Given the description of an element on the screen output the (x, y) to click on. 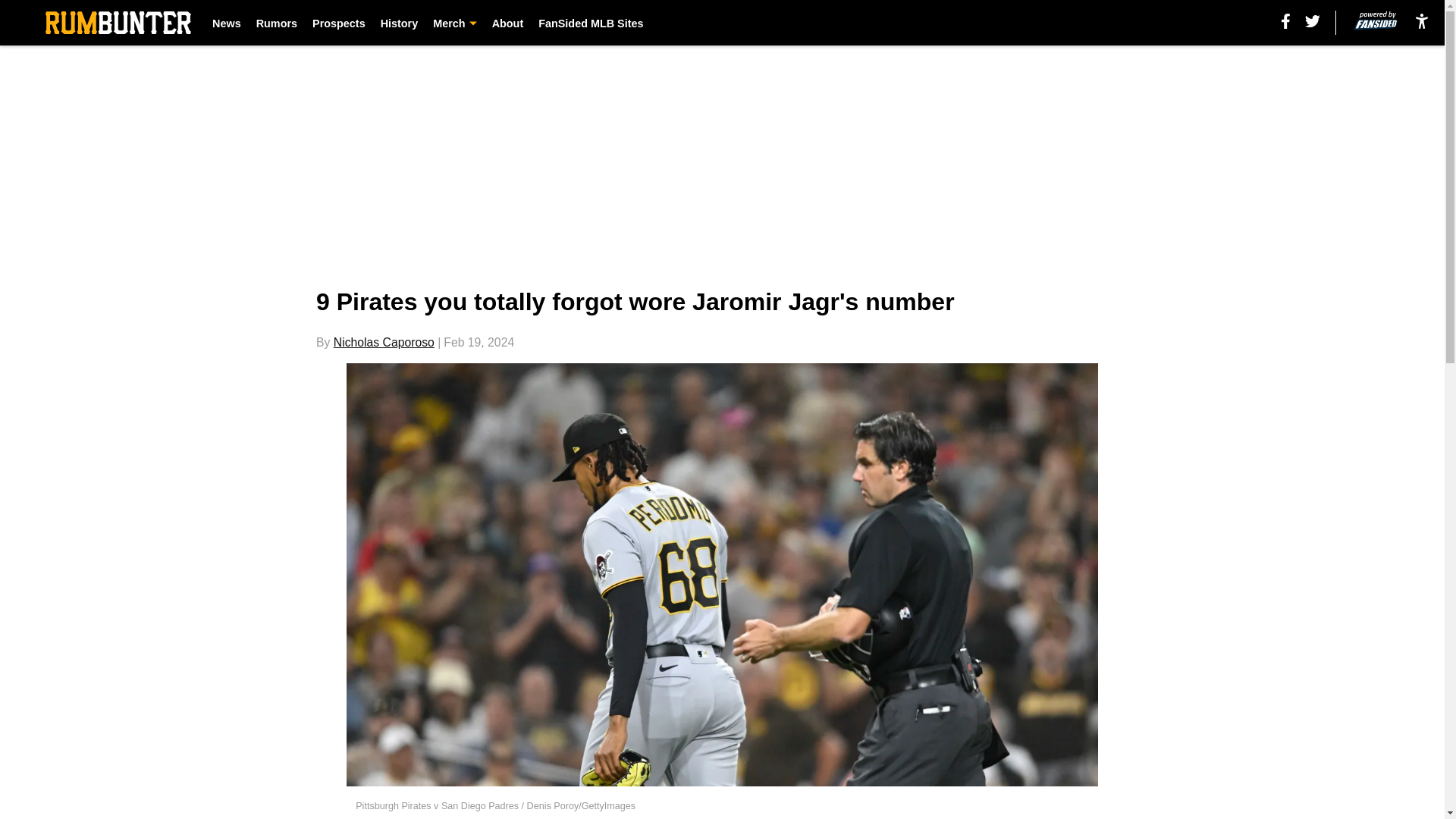
Prospects (339, 23)
History (399, 23)
Rumors (276, 23)
Nicholas Caporoso (383, 341)
FanSided MLB Sites (590, 23)
About (508, 23)
News (226, 23)
